Given the description of an element on the screen output the (x, y) to click on. 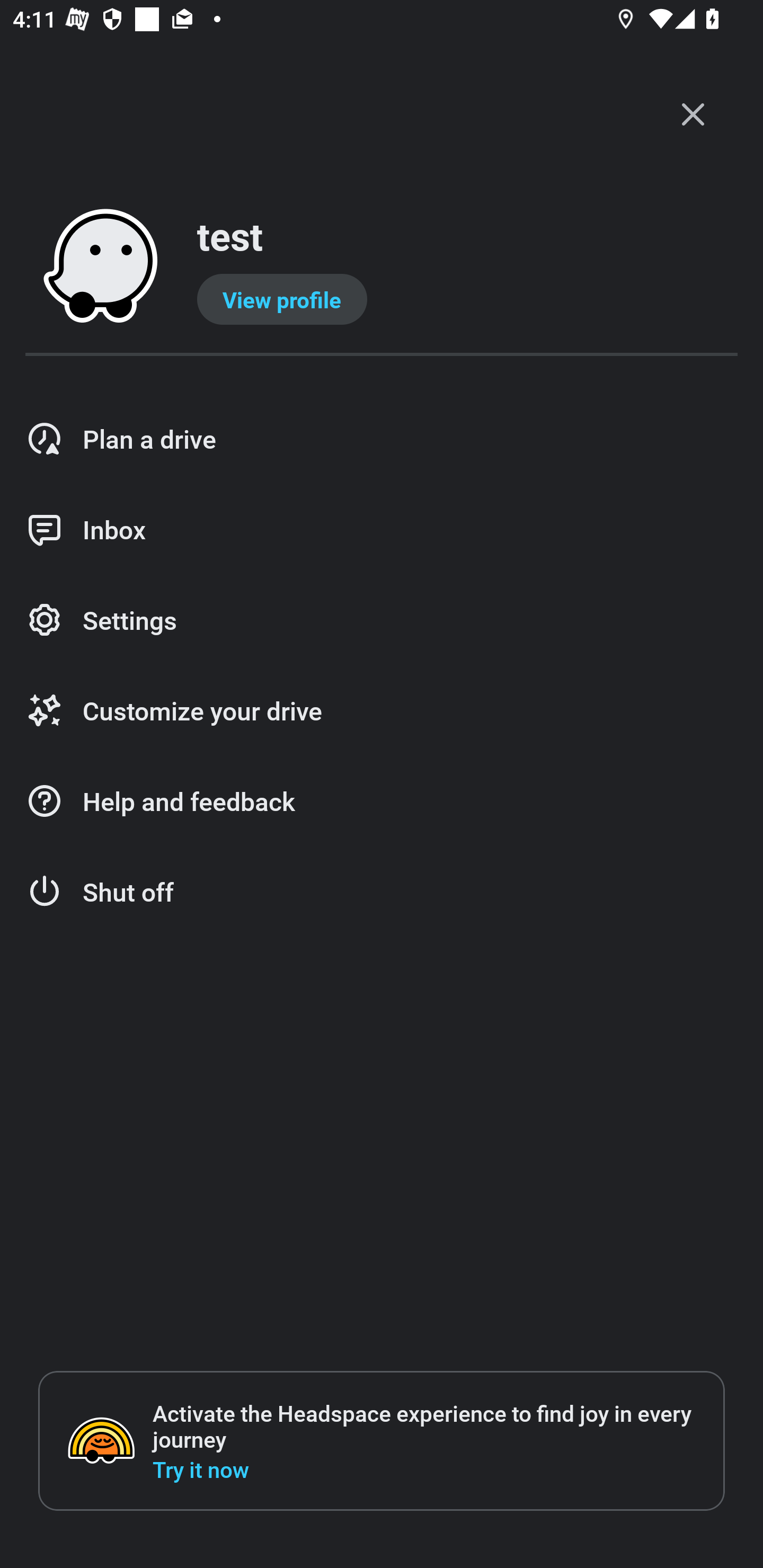
test View profile (381, 266)
View profile (281, 299)
ACTION_CELL_ICON Plan a drive ACTION_CELL_TEXT (381, 438)
ACTION_CELL_ICON Inbox ACTION_CELL_TEXT (381, 529)
ACTION_CELL_ICON Settings ACTION_CELL_TEXT (381, 620)
ACTION_CELL_ICON Shut off ACTION_CELL_TEXT (381, 891)
